Given the description of an element on the screen output the (x, y) to click on. 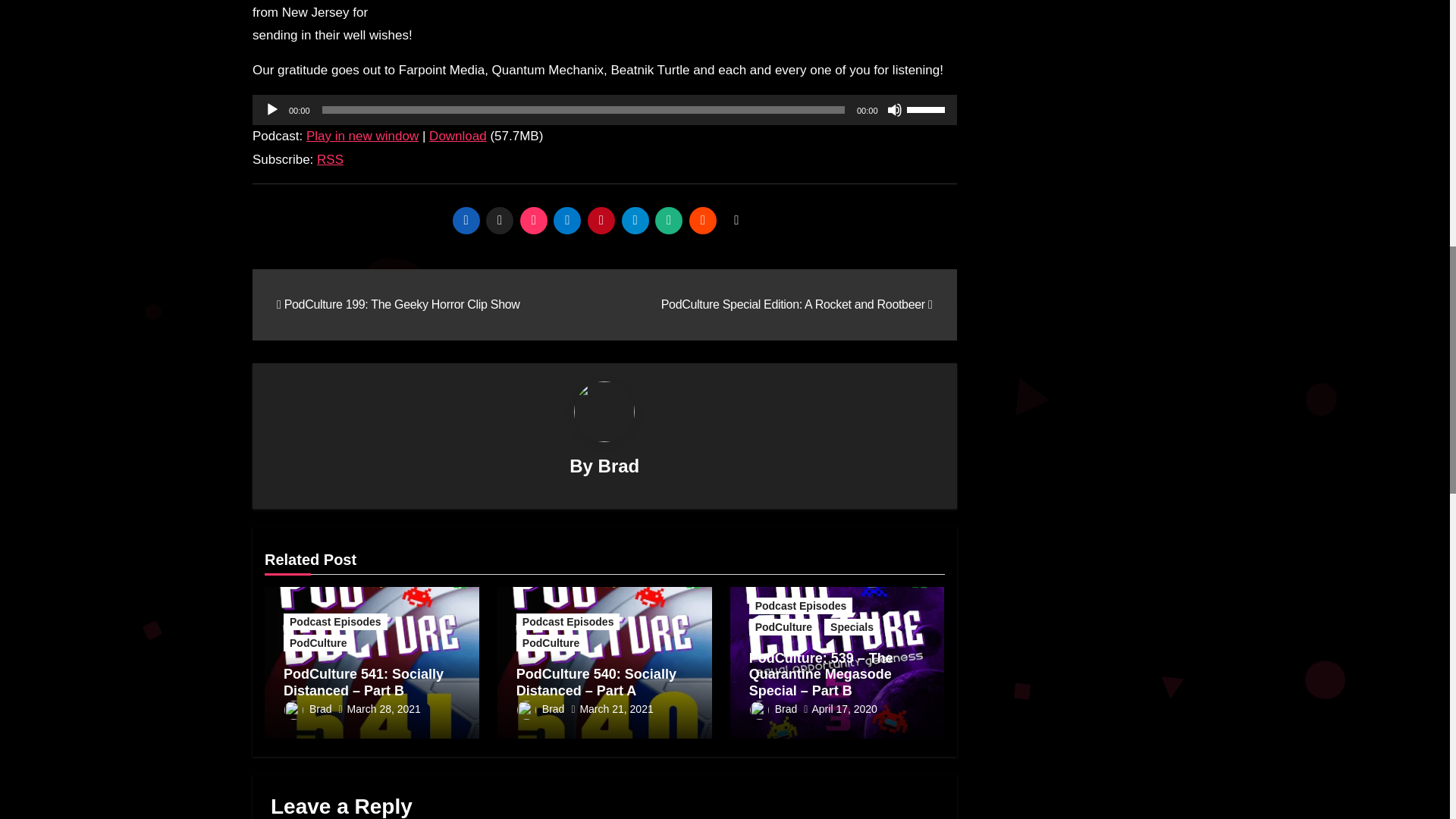
Subscribe via RSS (330, 159)
Play in new window (362, 135)
Download (457, 135)
Download (457, 135)
Play in new window (362, 135)
Play (271, 109)
Mute (894, 109)
RSS (330, 159)
